Given the description of an element on the screen output the (x, y) to click on. 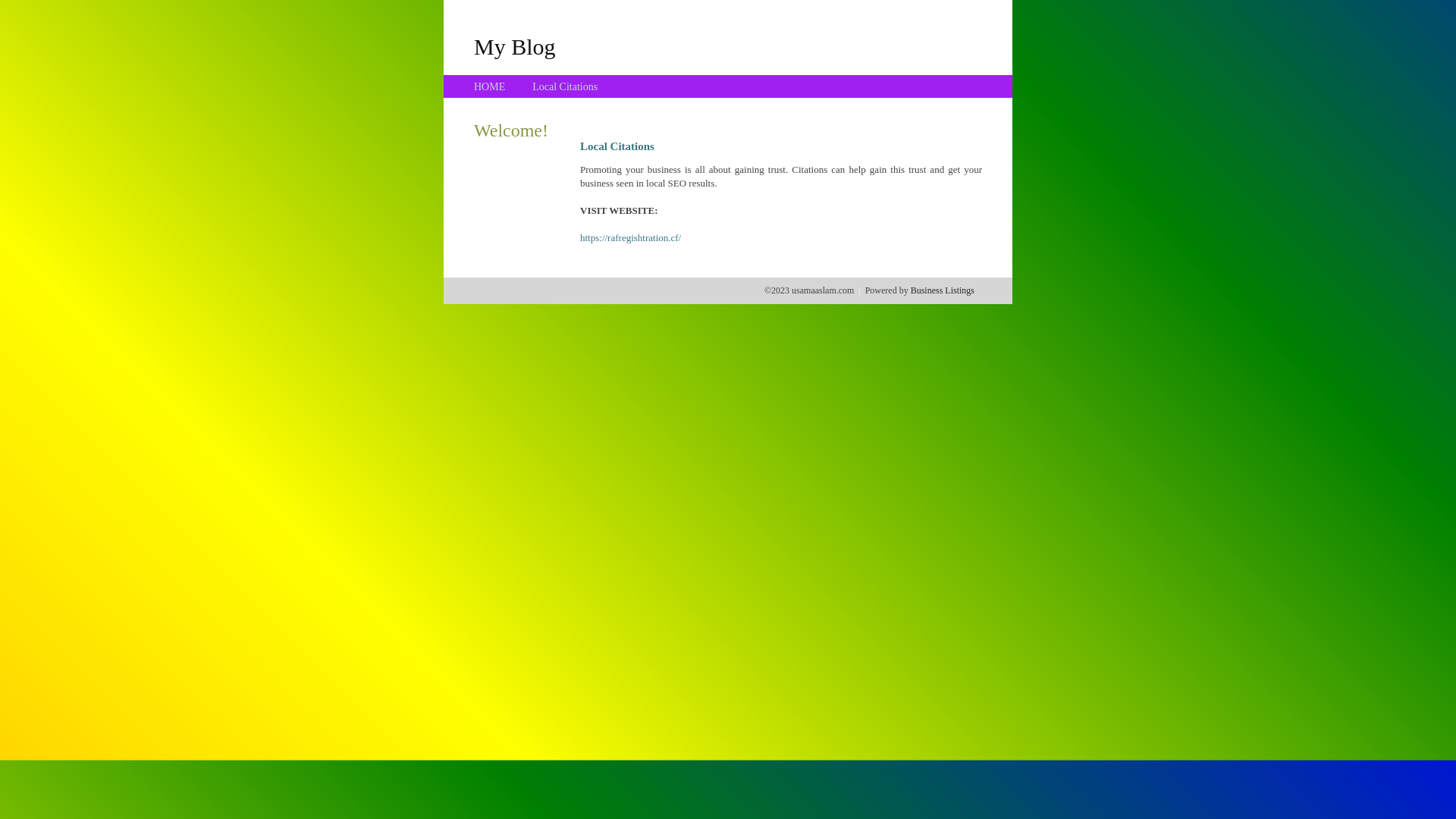
HOME Element type: text (489, 86)
My Blog Element type: text (514, 46)
Business Listings Element type: text (942, 290)
https://rafregishtration.cf/ Element type: text (630, 237)
Local Citations Element type: text (564, 86)
